Given the description of an element on the screen output the (x, y) to click on. 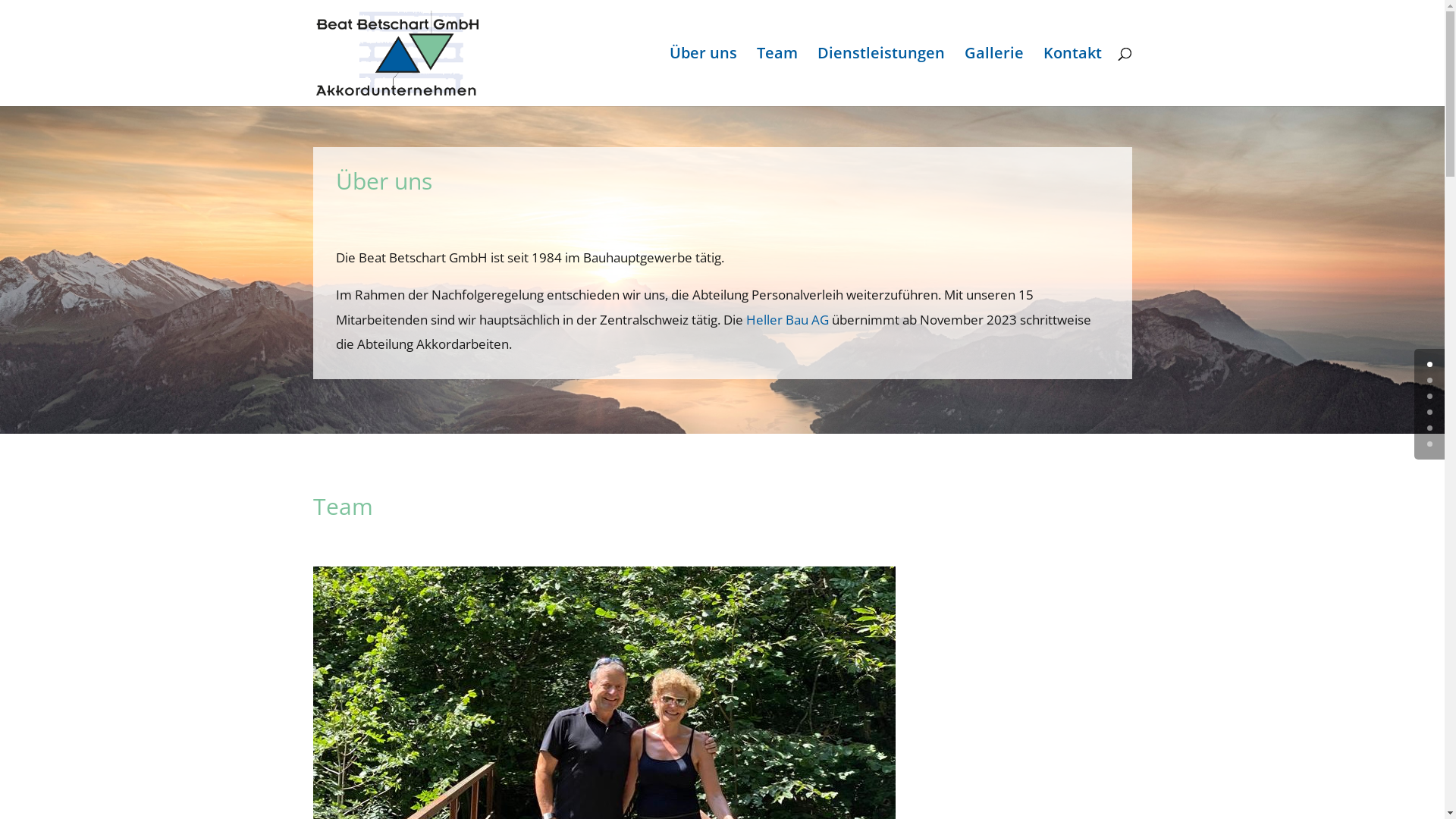
4 Element type: text (1429, 427)
Dienstleistungen Element type: text (880, 76)
Gallerie Element type: text (993, 76)
5 Element type: text (1429, 443)
3 Element type: text (1429, 411)
Heller Bau AG Element type: text (787, 319)
Team Element type: text (776, 76)
2 Element type: text (1429, 395)
0 Element type: text (1429, 364)
Kontakt Element type: text (1072, 76)
1 Element type: text (1429, 379)
